Given the description of an element on the screen output the (x, y) to click on. 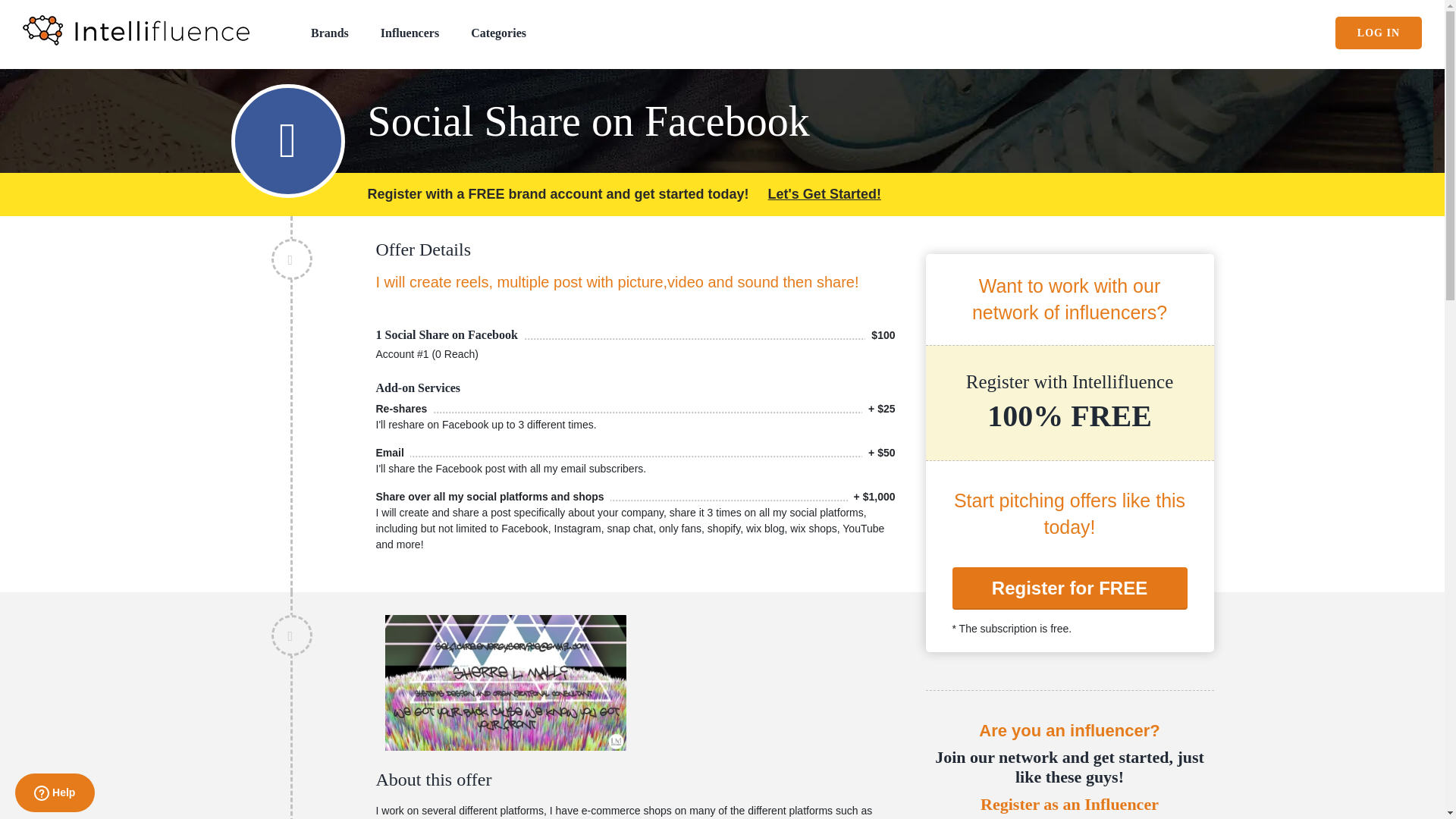
Register as an Influencer (1068, 804)
Social Share on Facebook (789, 115)
Let's Get Started! (824, 194)
Brands (330, 31)
Influencers (409, 31)
Categories (497, 31)
Register for FREE (1070, 588)
LOG IN (1378, 31)
